Given the description of an element on the screen output the (x, y) to click on. 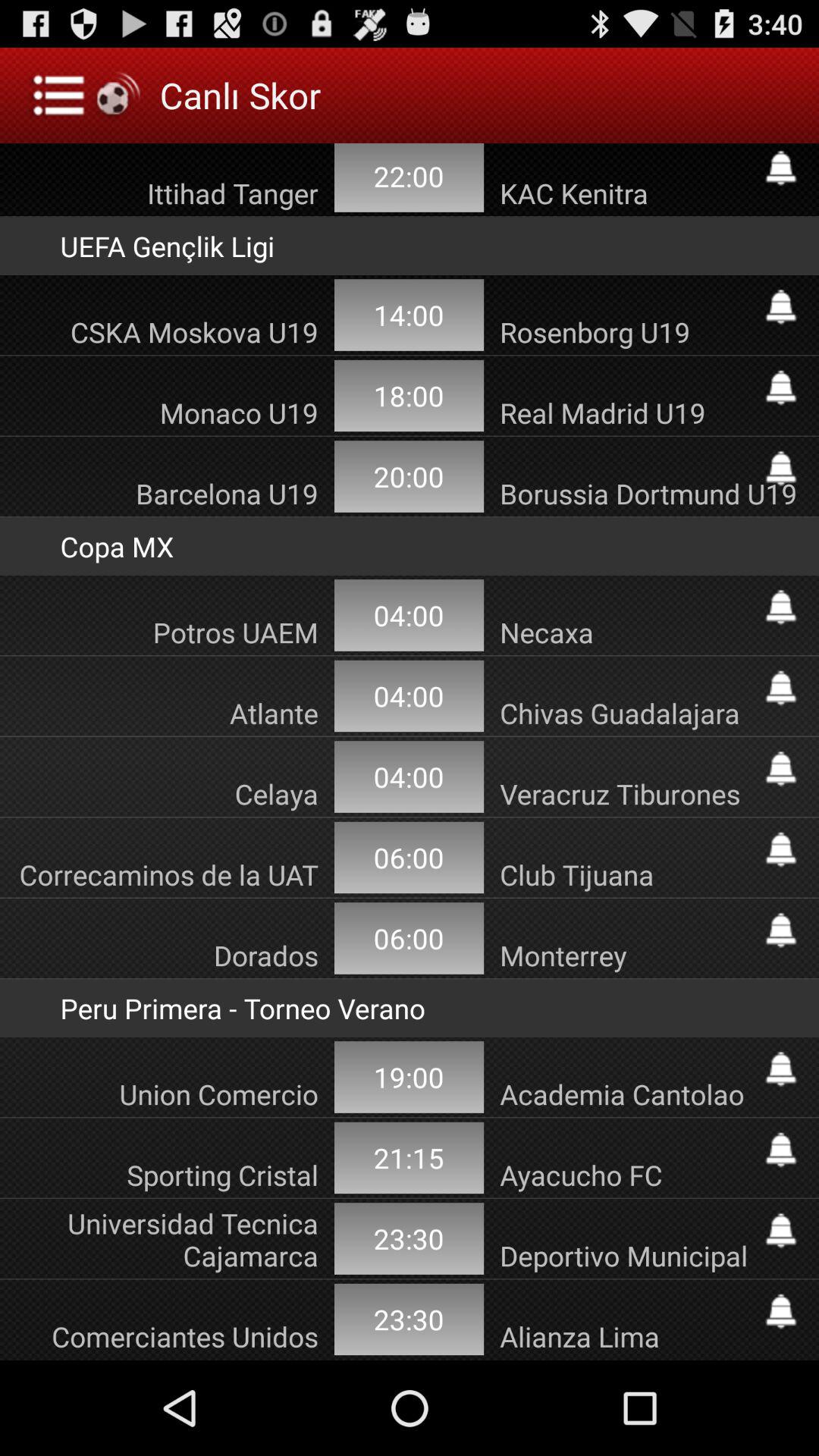
follow universidad tecnica cajamarca deportivo municipal (780, 1230)
